Given the description of an element on the screen output the (x, y) to click on. 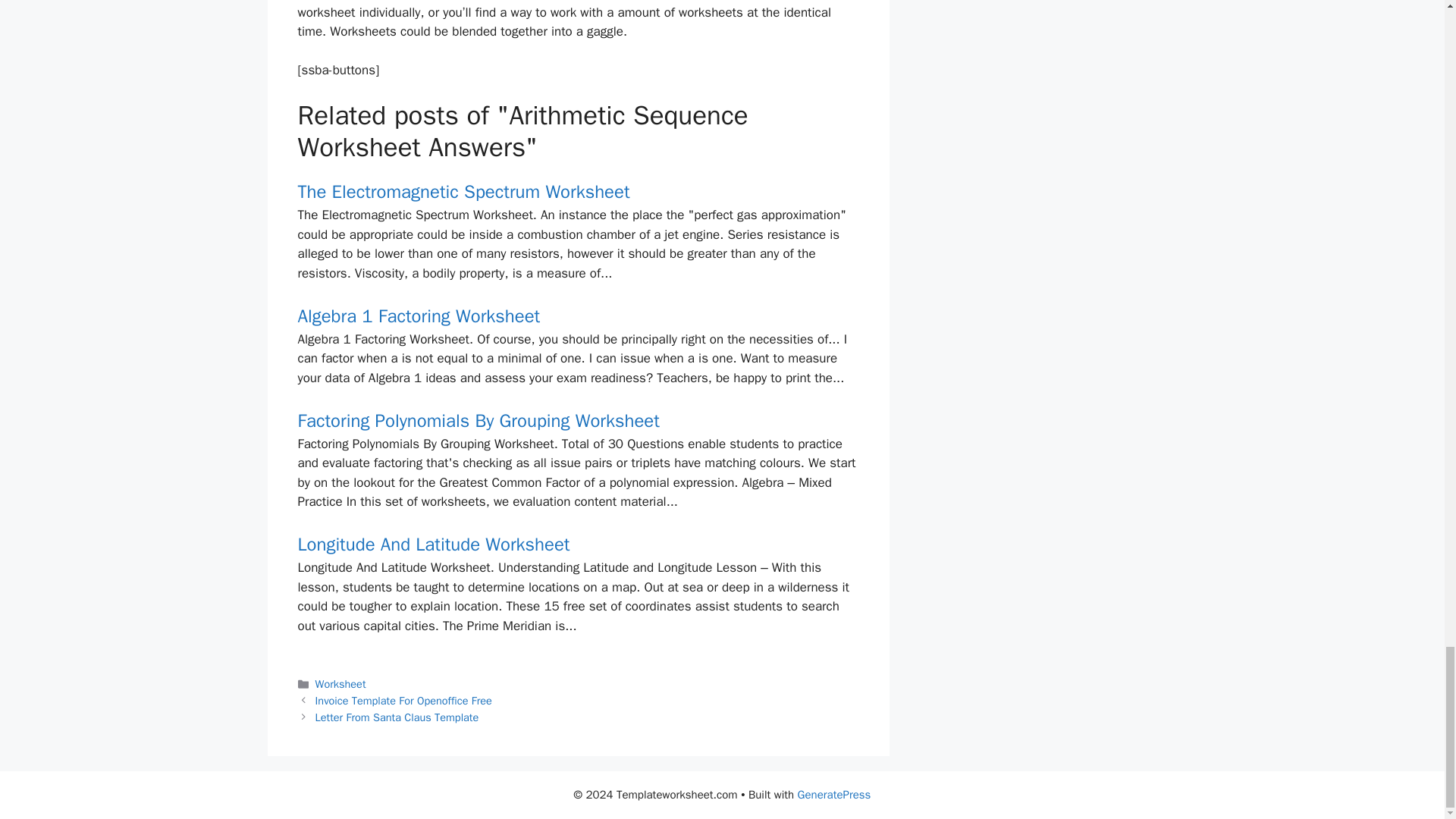
GeneratePress (833, 794)
Algebra 1 Factoring Worksheet (418, 315)
The Electromagnetic Spectrum Worksheet (462, 191)
Factoring Polynomials By Grouping Worksheet (478, 420)
Previous (403, 700)
Letter From Santa Claus Template (397, 716)
Next (397, 716)
Longitude And Latitude Worksheet (433, 544)
Invoice Template For Openoffice Free (403, 700)
Worksheet (340, 684)
